Given the description of an element on the screen output the (x, y) to click on. 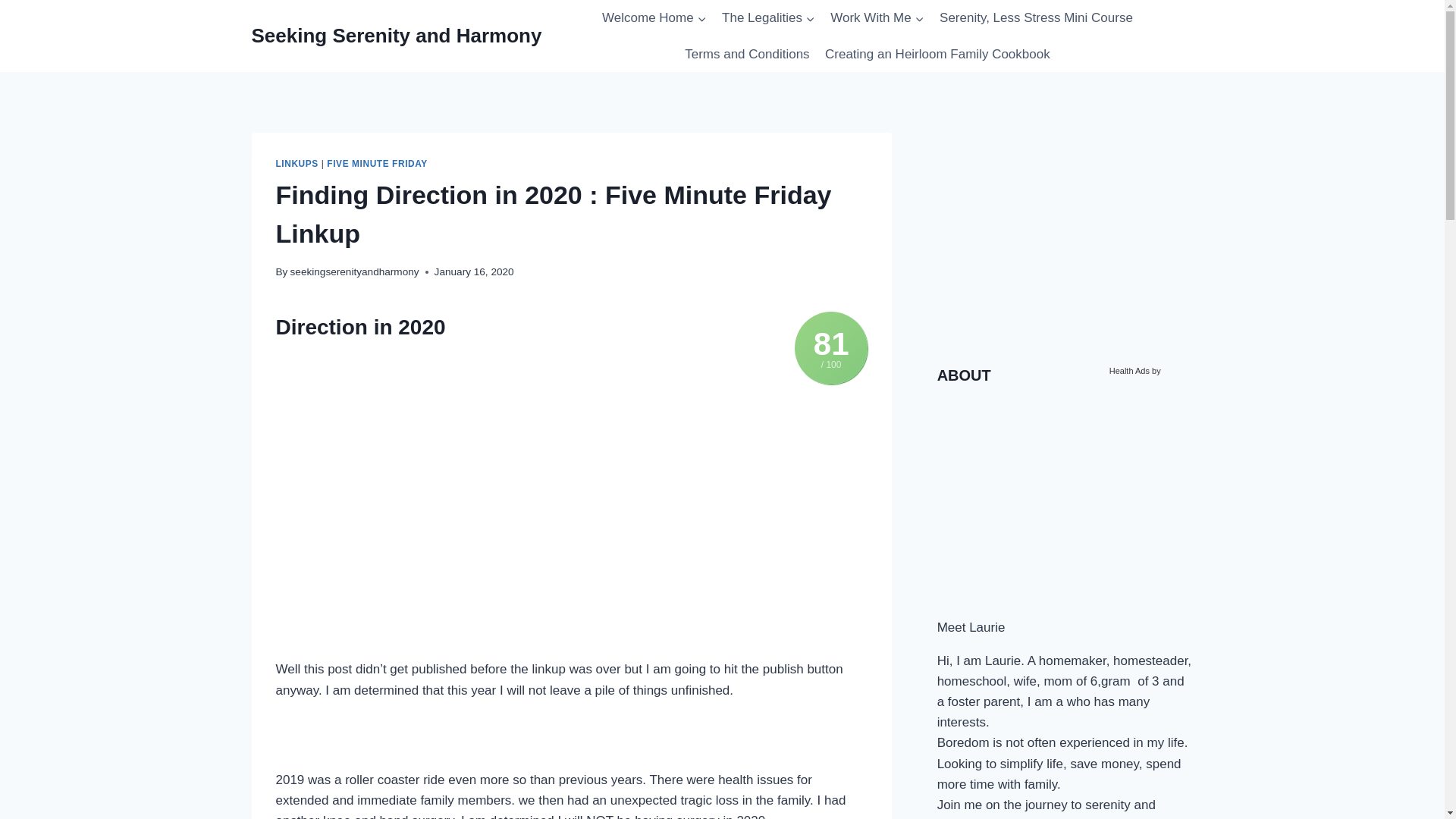
Health Ads (1129, 370)
Work With Me (876, 18)
Creating an Heirloom Family Cookbook (937, 54)
seekingserenityandharmony (354, 271)
Terms and Conditions (746, 54)
LINKUPS (297, 163)
FIVE MINUTE FRIDAY (377, 163)
Serenity, Less Stress Mini Course (1035, 18)
Welcome Home (654, 18)
The Legalities (768, 18)
Seeking Serenity and Harmony (396, 35)
